Given the description of an element on the screen output the (x, y) to click on. 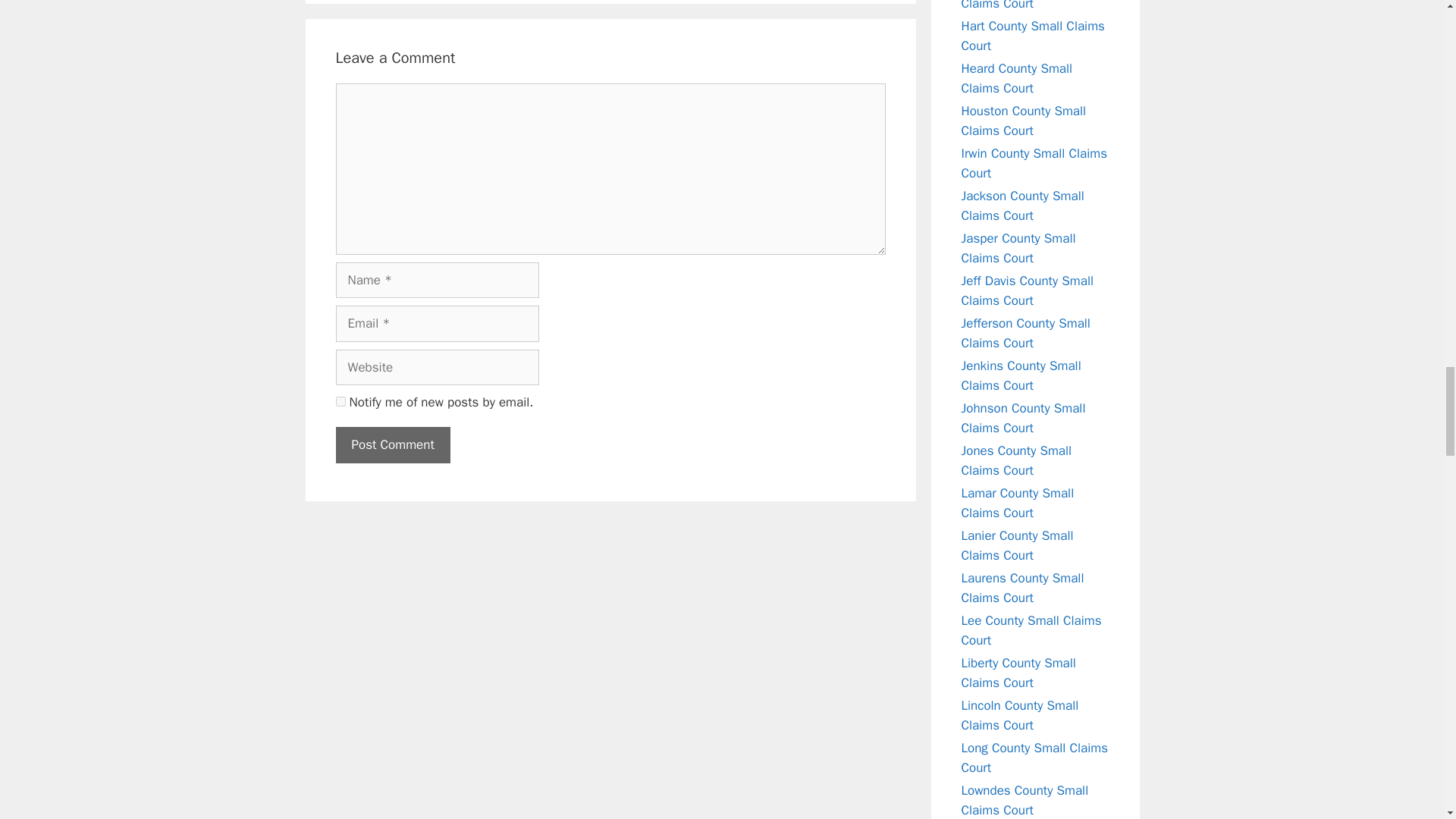
subscribe (339, 401)
Post Comment (391, 444)
Post Comment (391, 444)
